Given the description of an element on the screen output the (x, y) to click on. 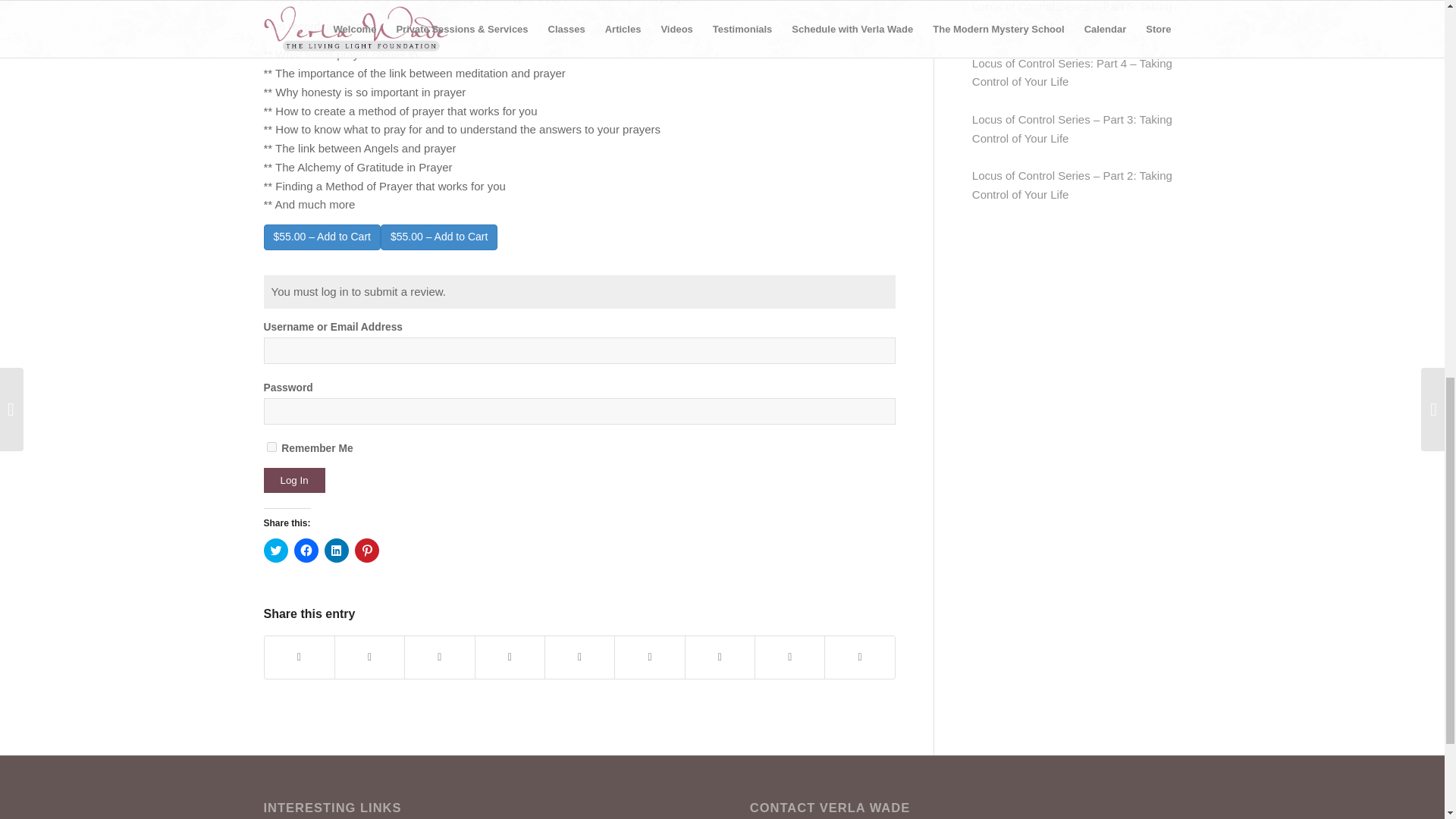
forever (271, 447)
Click to share on Twitter (275, 550)
Click to share on Facebook (306, 550)
Click to share on LinkedIn (336, 550)
Click to share on Pinterest (366, 550)
Log In (293, 480)
